Given the description of an element on the screen output the (x, y) to click on. 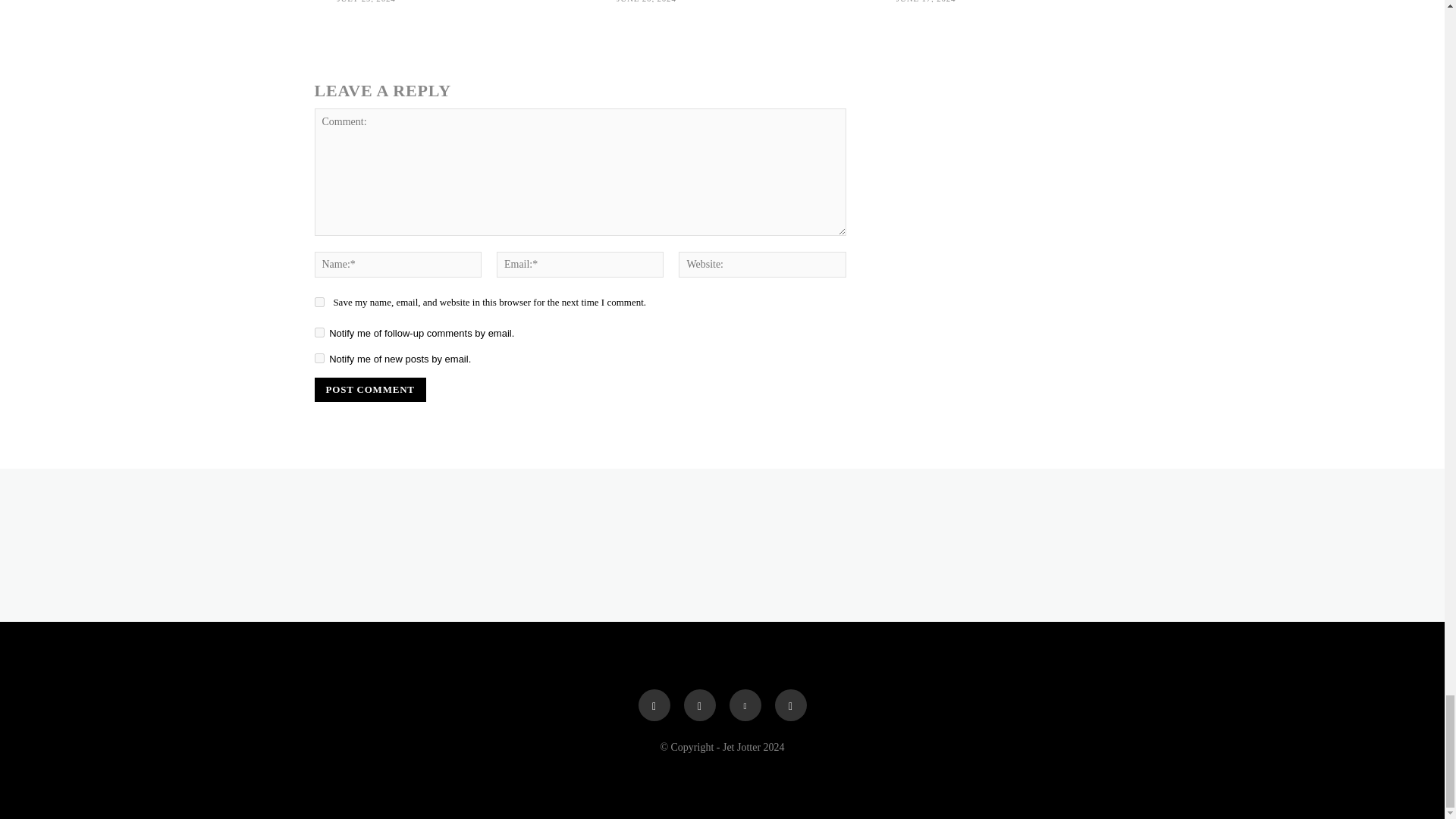
subscribe (318, 332)
subscribe (318, 357)
Post Comment (369, 389)
yes (318, 302)
